Given the description of an element on the screen output the (x, y) to click on. 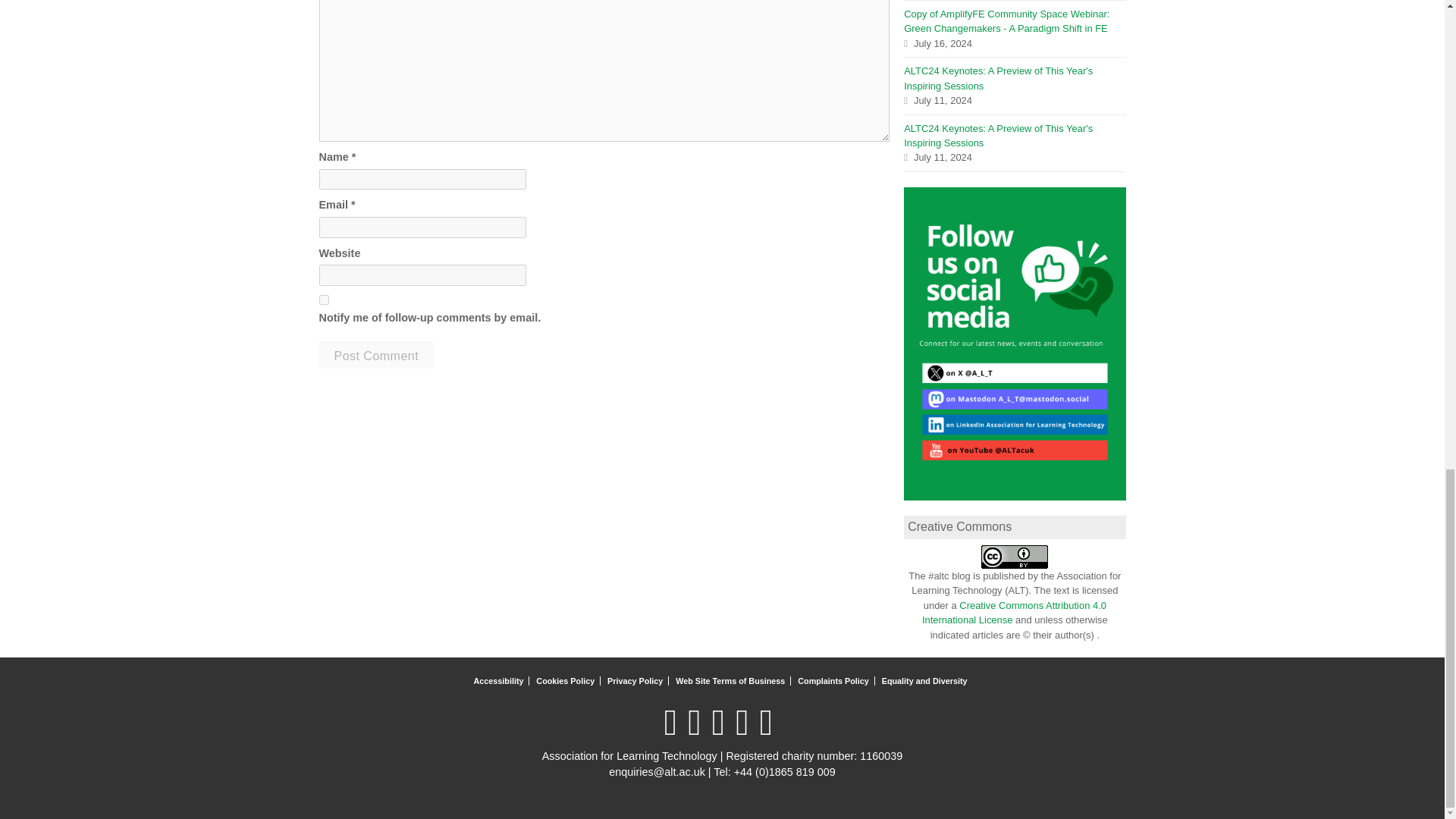
Visit ClipsFromALT on YouTube (722, 730)
Visit ALT on LinkedIn (698, 730)
Use of Cookies (566, 680)
Visit ALT on X (674, 730)
Equality and Diversity Policy Statement (926, 680)
Information about the accessibility of this web site (500, 680)
Complaints Policy and Procedure (835, 680)
subscribe (323, 299)
Post Comment (375, 354)
